Given the description of an element on the screen output the (x, y) to click on. 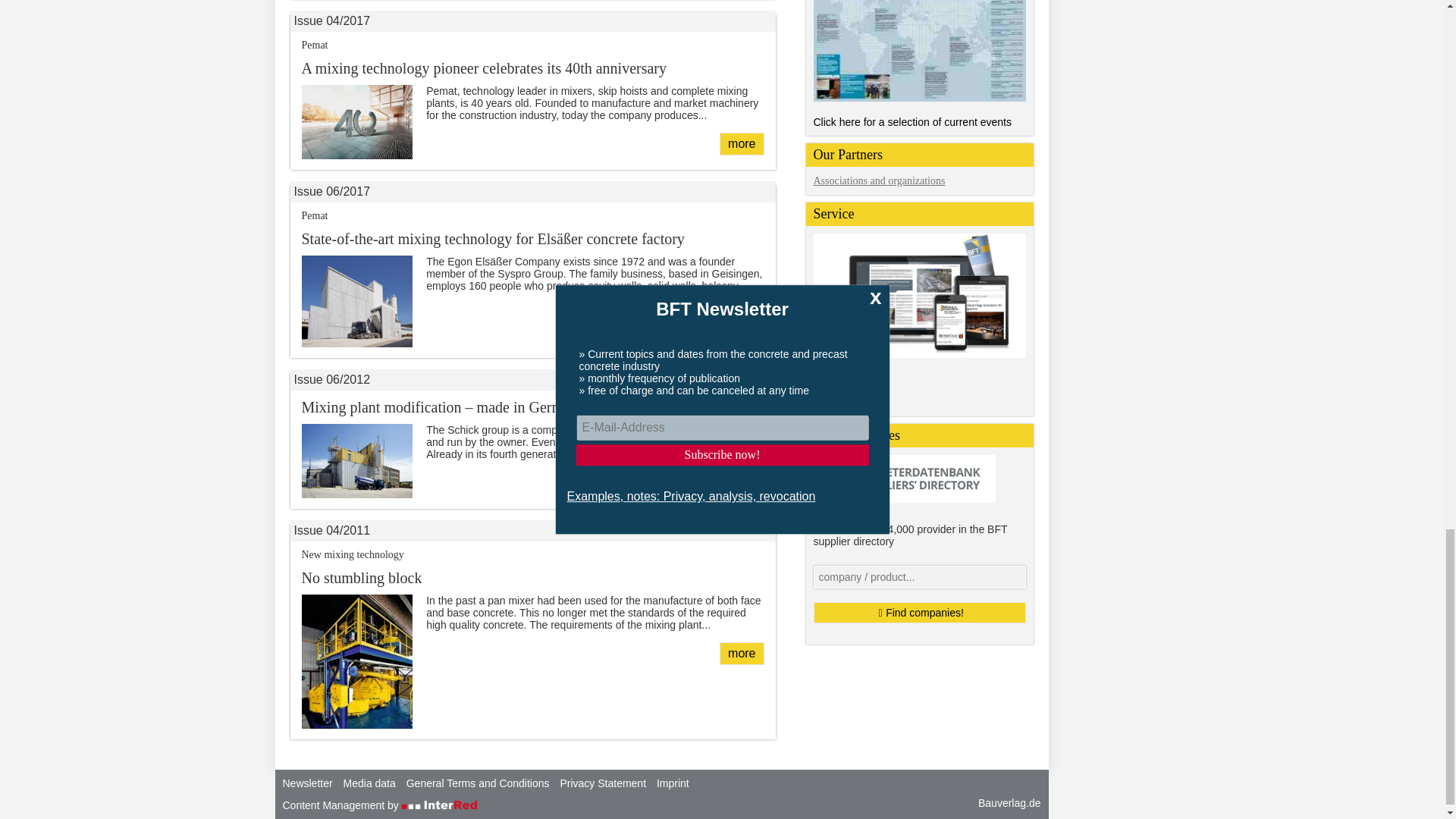
Bau-Produkte oder Anbieter (918, 576)
A mixing technology pioneer celebrates its 40th anniversary (740, 143)
No stumbling block (740, 653)
Suchen (918, 612)
